Given the description of an element on the screen output the (x, y) to click on. 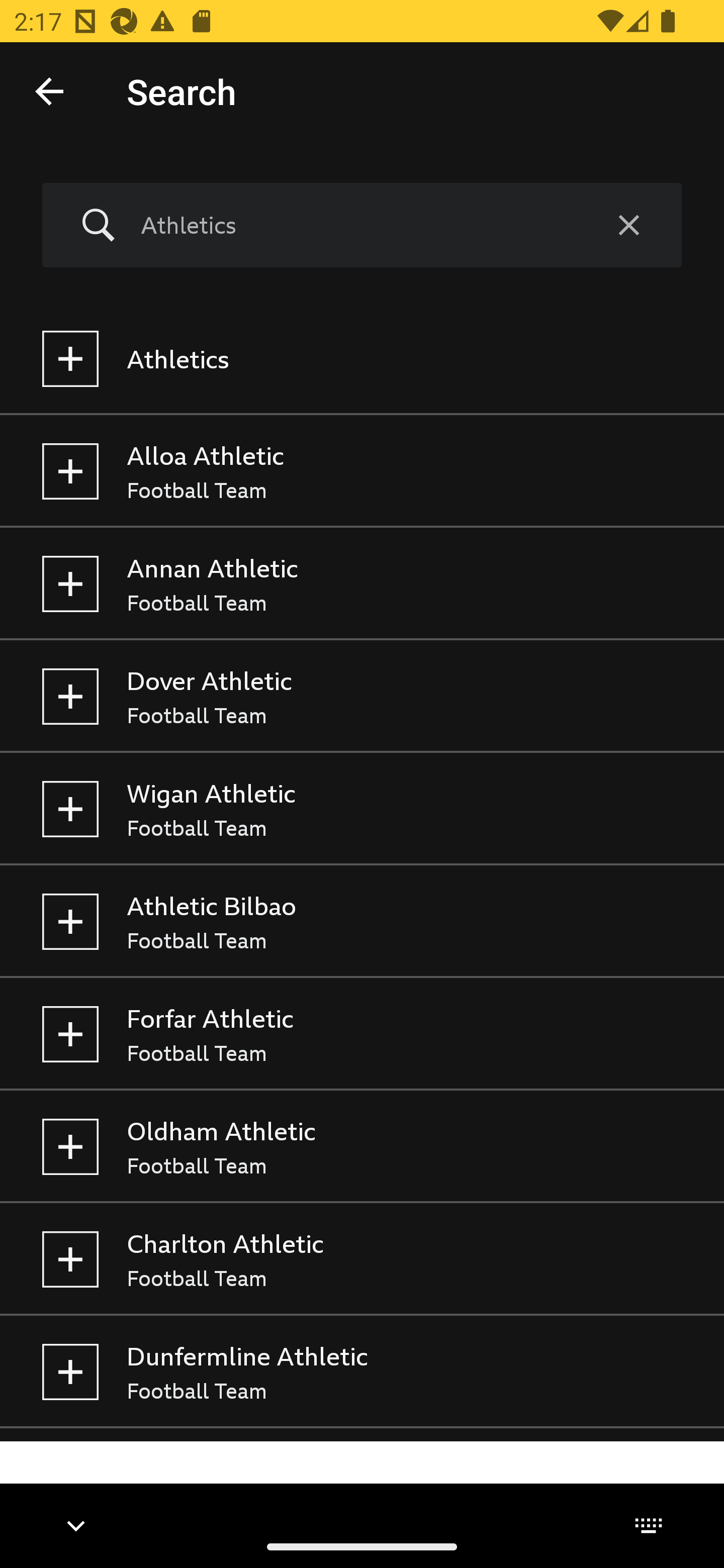
Done (49, 90)
Athletics Clear query (361, 225)
Clear query (628, 225)
Athletics (358, 224)
Athletics (362, 358)
